Given the description of an element on the screen output the (x, y) to click on. 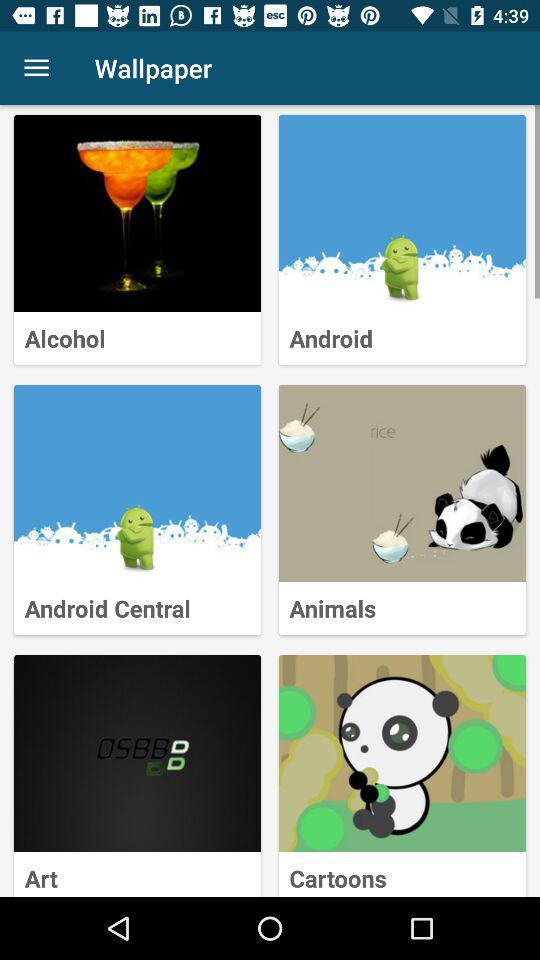
look at animal wallpapers (402, 483)
